Given the description of an element on the screen output the (x, y) to click on. 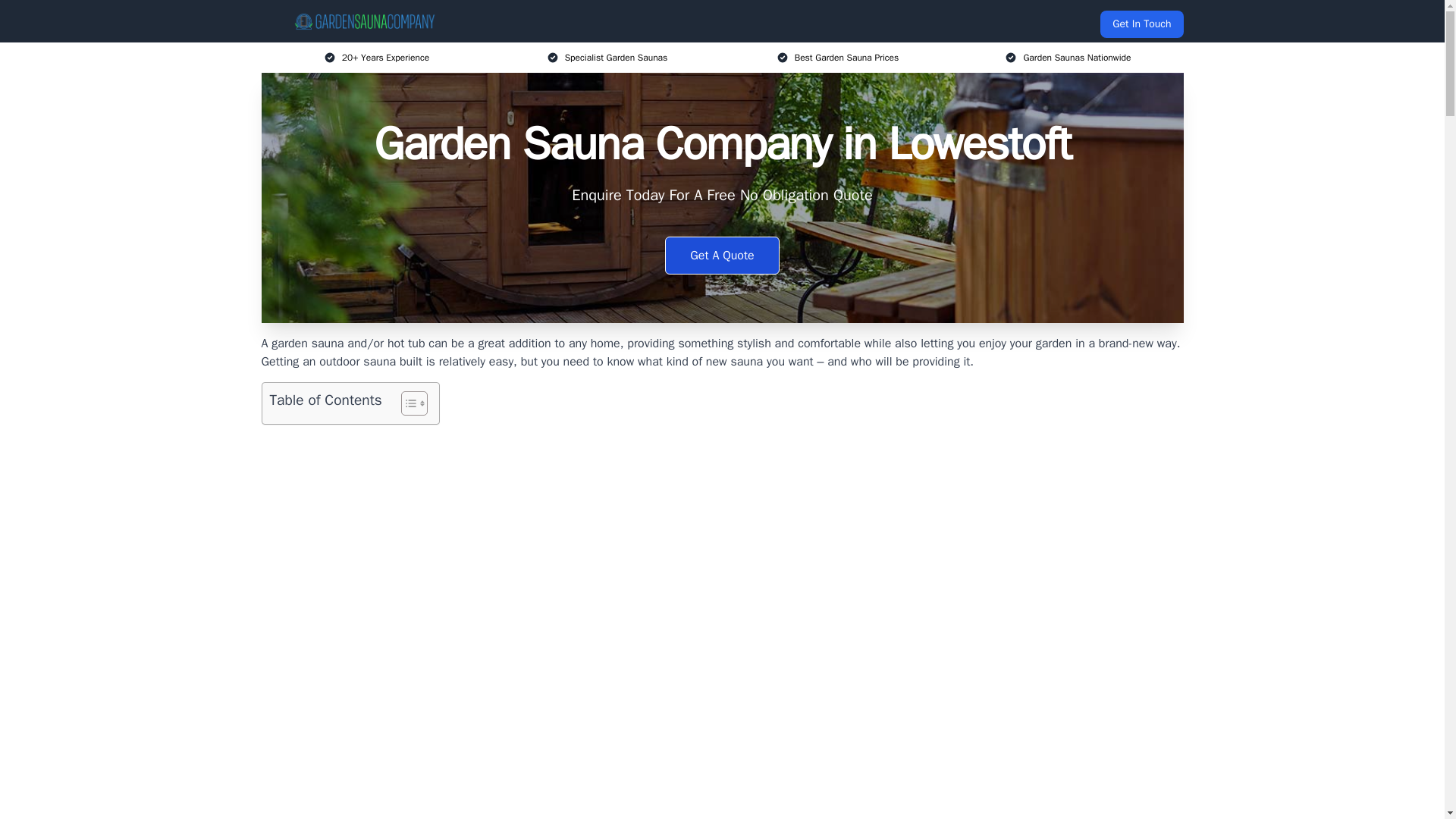
Get In Touch (1141, 23)
Get A Quote (721, 255)
